Given the description of an element on the screen output the (x, y) to click on. 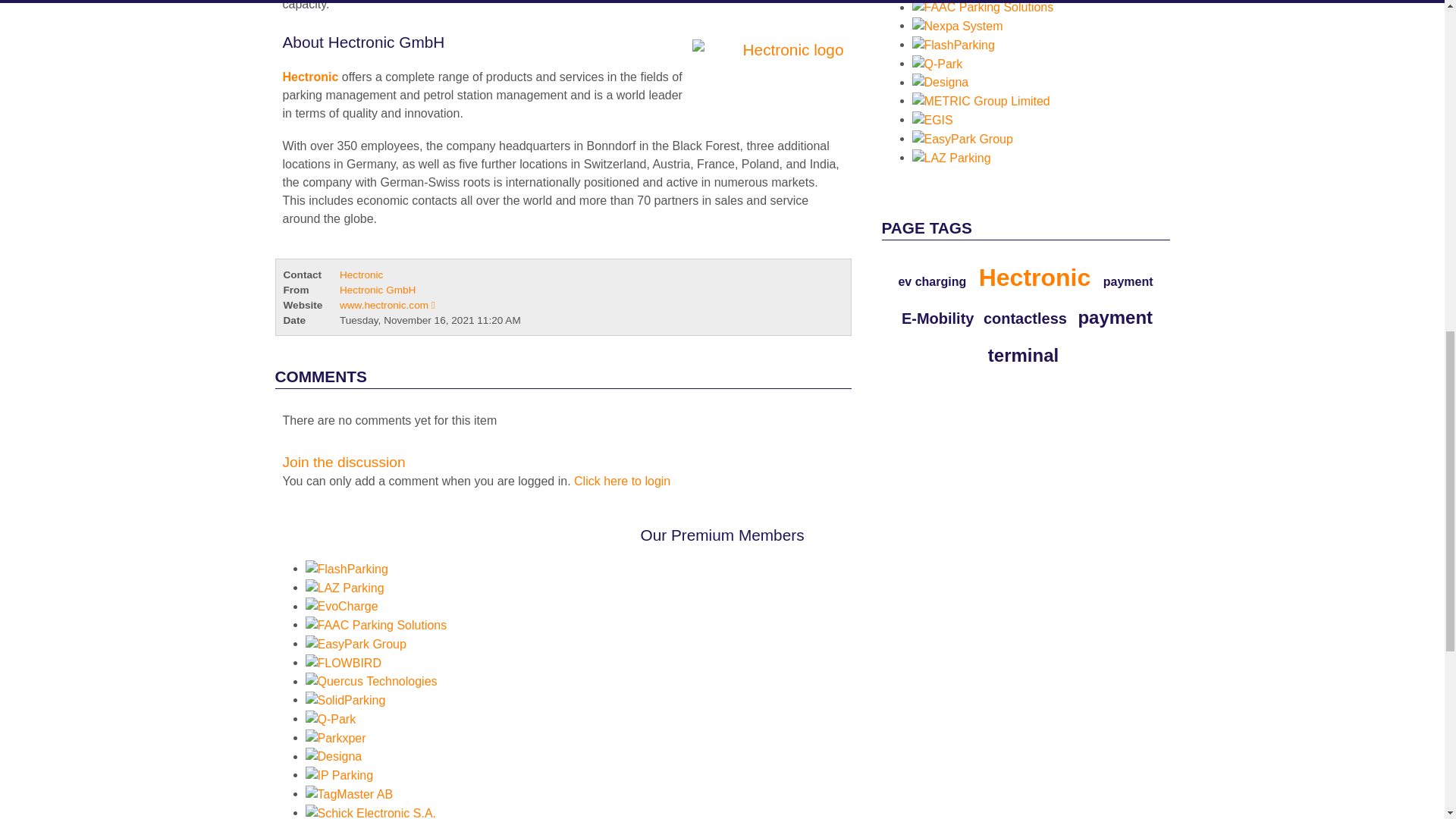
View website of Hectronic GmbH (387, 305)
Hectronic (763, 76)
view the Hectronic company profile (309, 76)
View profile of Hectronic GmbH (376, 289)
Click here to login (621, 481)
Hectronic (309, 76)
